Given the description of an element on the screen output the (x, y) to click on. 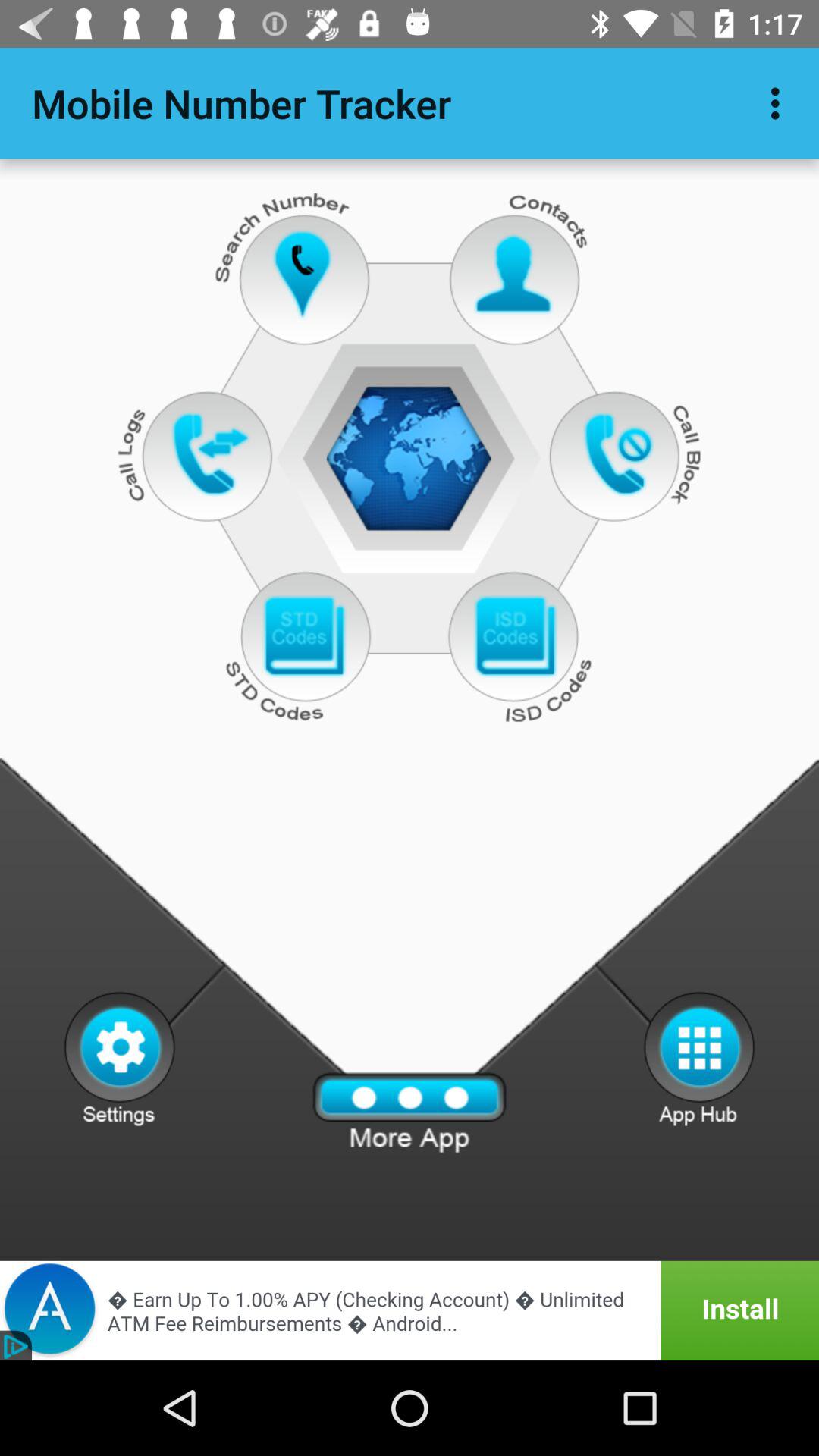
select call block (622, 453)
